Given the description of an element on the screen output the (x, y) to click on. 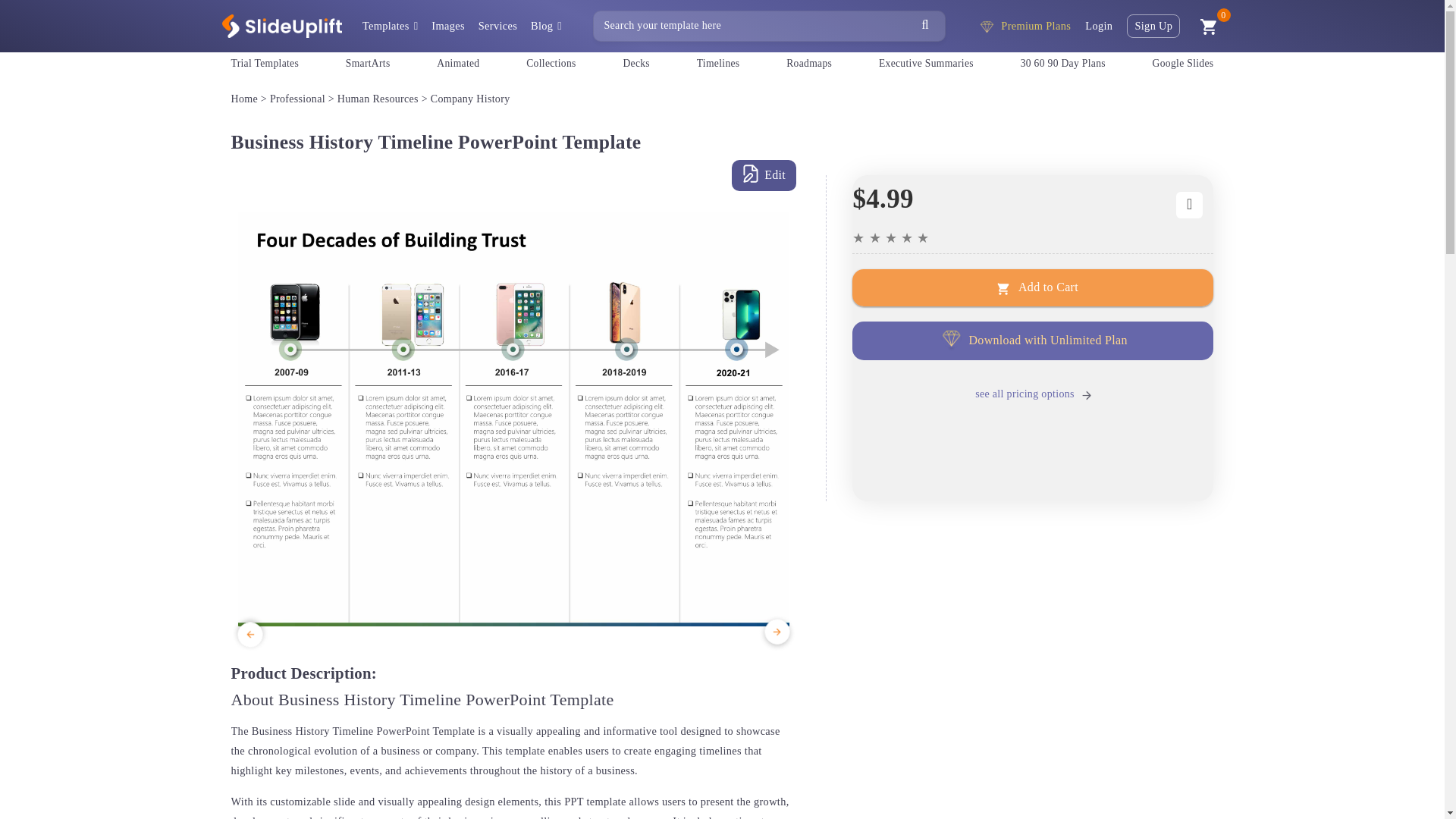
Templates (389, 25)
